Given the description of an element on the screen output the (x, y) to click on. 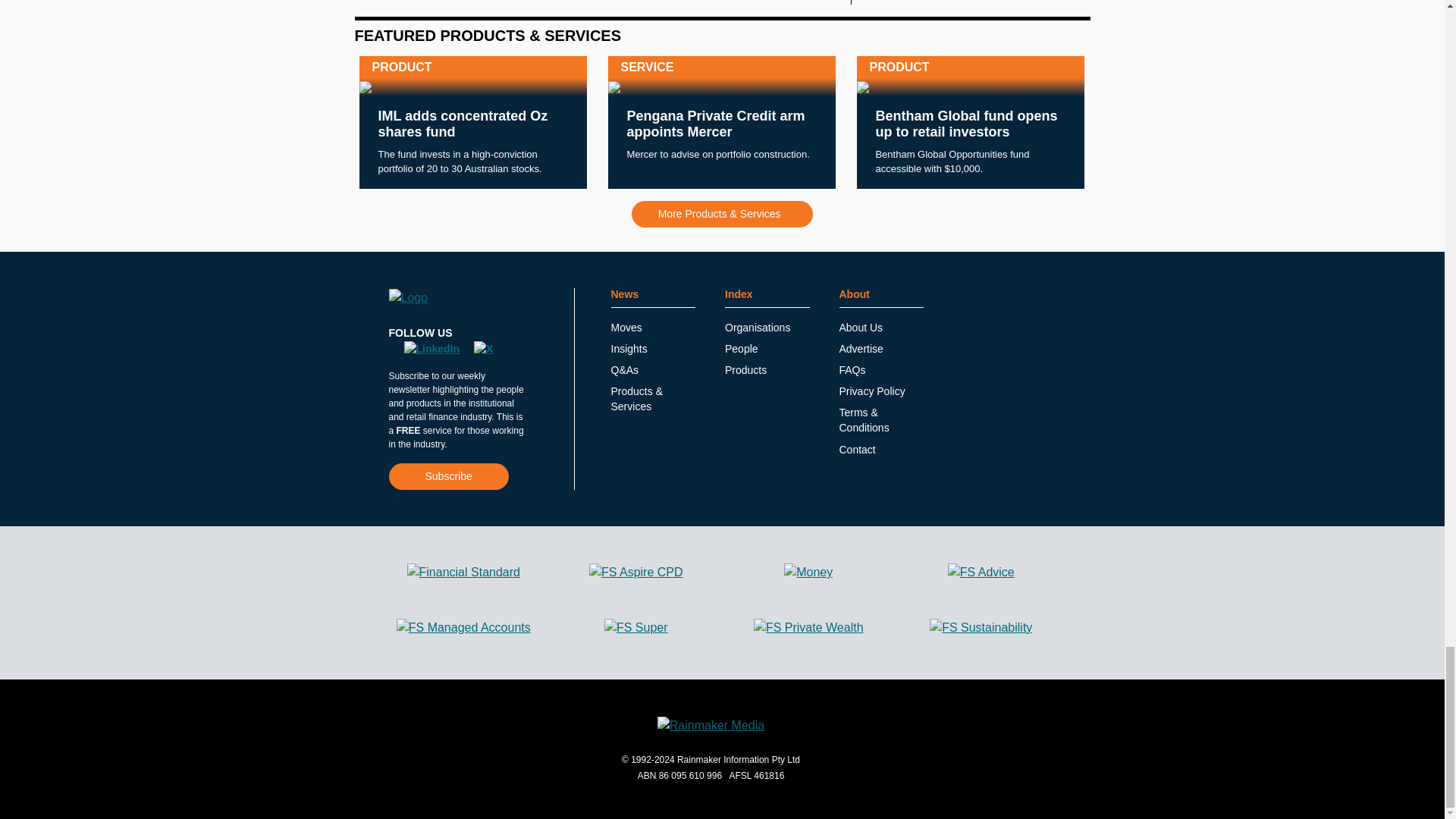
FS Aspire CPD (635, 572)
FS Sustainability (981, 628)
Rainmaker Media (711, 725)
Financial Standard (463, 572)
Insights (629, 348)
FS Super (636, 628)
Subscribe (448, 476)
Home (408, 298)
Moves (626, 327)
